Given the description of an element on the screen output the (x, y) to click on. 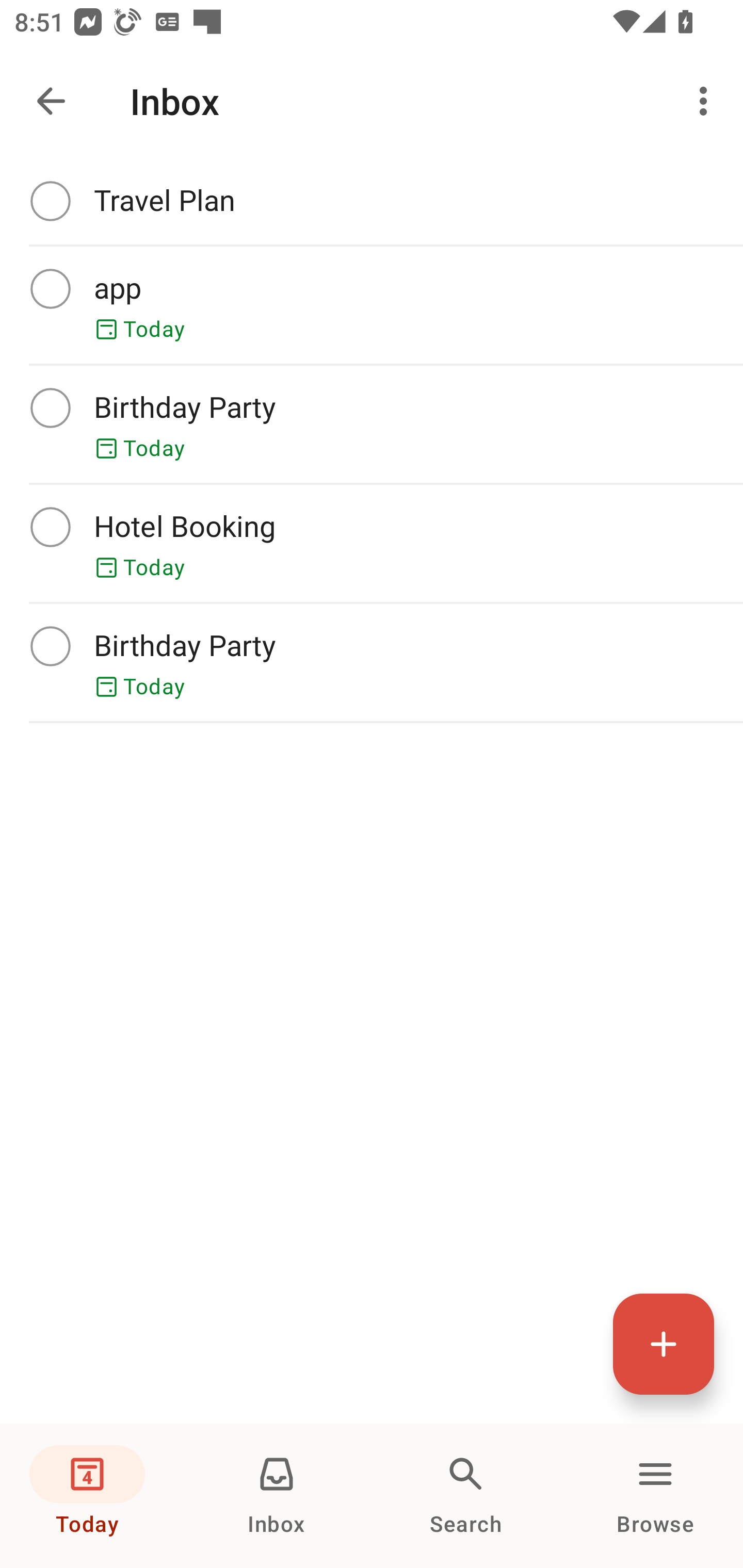
Navigate up Inbox More options (371, 100)
Navigate up (50, 101)
More options (706, 101)
Complete Travel Plan (371, 201)
Complete (50, 200)
Complete app Today (371, 304)
Complete (50, 288)
Complete Birthday Party Today (371, 423)
Complete (50, 407)
Complete Hotel Booking Today (371, 543)
Complete (50, 526)
Complete Birthday Party Today (371, 662)
Complete (50, 645)
Quick add (663, 1343)
Inbox (276, 1495)
Search (465, 1495)
Browse (655, 1495)
